Given the description of an element on the screen output the (x, y) to click on. 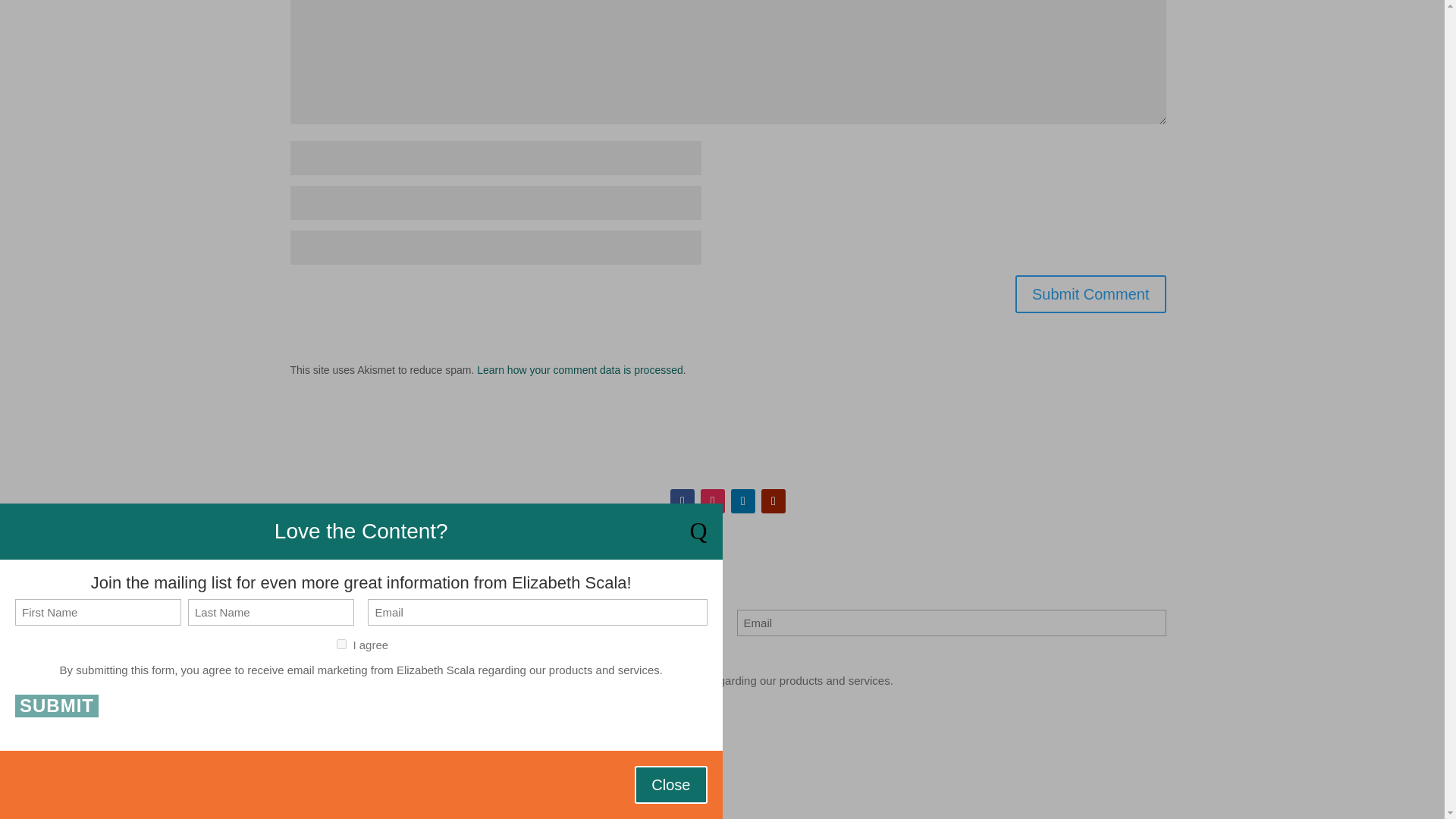
Follow on Instagram (712, 500)
Follow on Youtube (773, 500)
Follow on LinkedIn (742, 500)
Follow on Facebook (681, 500)
